Given the description of an element on the screen output the (x, y) to click on. 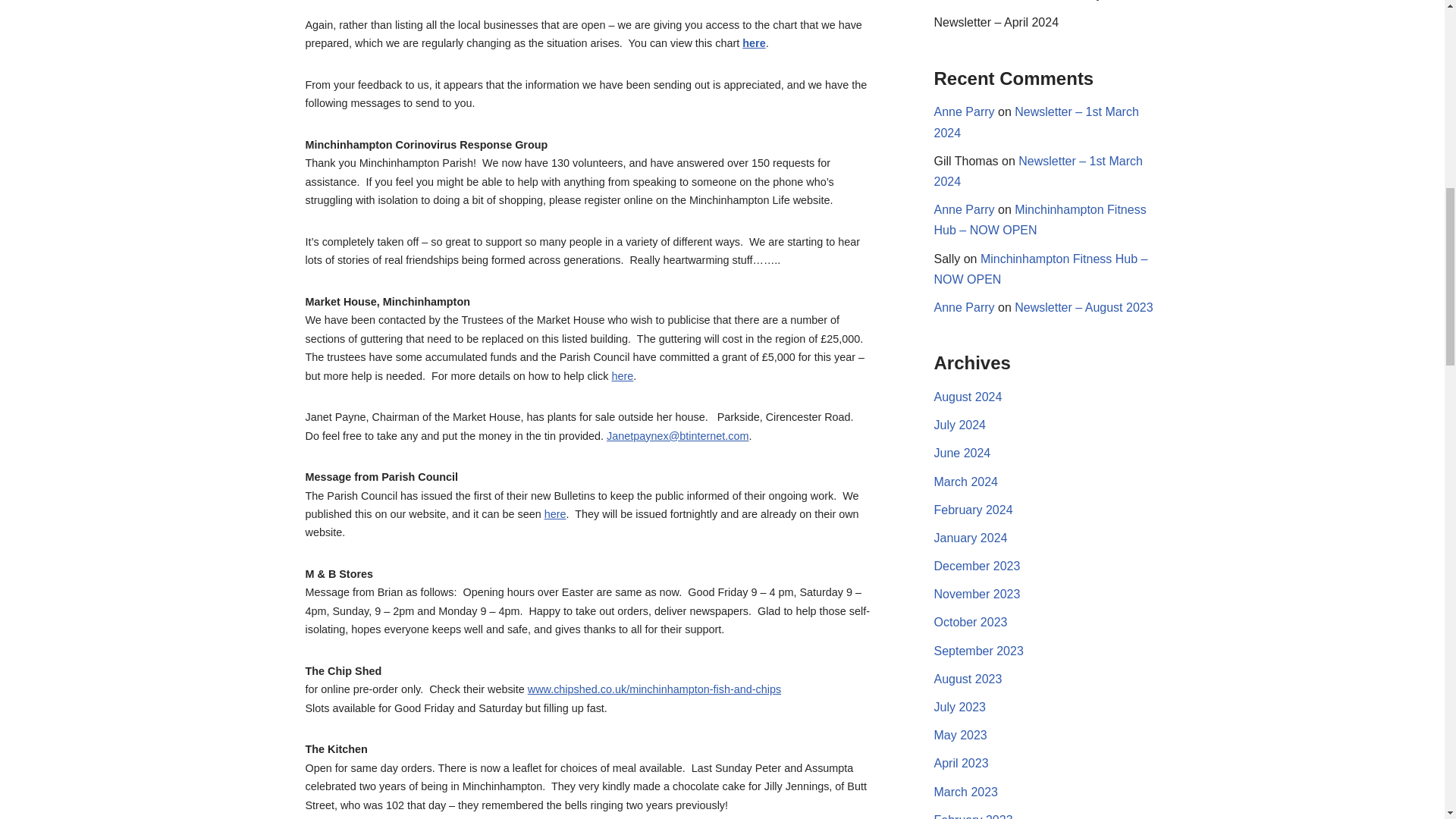
here (753, 42)
